Given the description of an element on the screen output the (x, y) to click on. 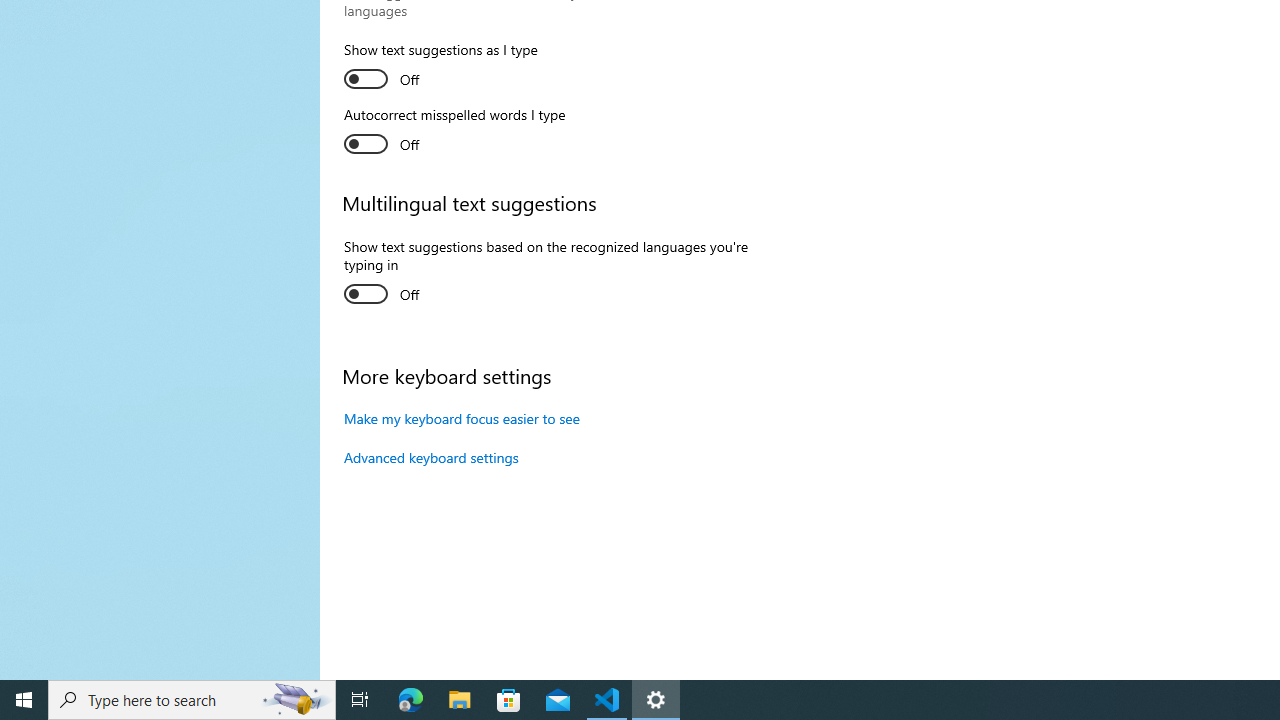
Show text suggestions as I type (440, 67)
Advanced keyboard settings (431, 457)
Search highlights icon opens search home window (295, 699)
File Explorer (460, 699)
Microsoft Store (509, 699)
Microsoft Edge (411, 699)
Visual Studio Code - 1 running window (607, 699)
Start (24, 699)
Type here to search (191, 699)
Settings - 1 running window (656, 699)
Autocorrect misspelled words I type (454, 132)
Make my keyboard focus easier to see (461, 417)
Task View (359, 699)
